Given the description of an element on the screen output the (x, y) to click on. 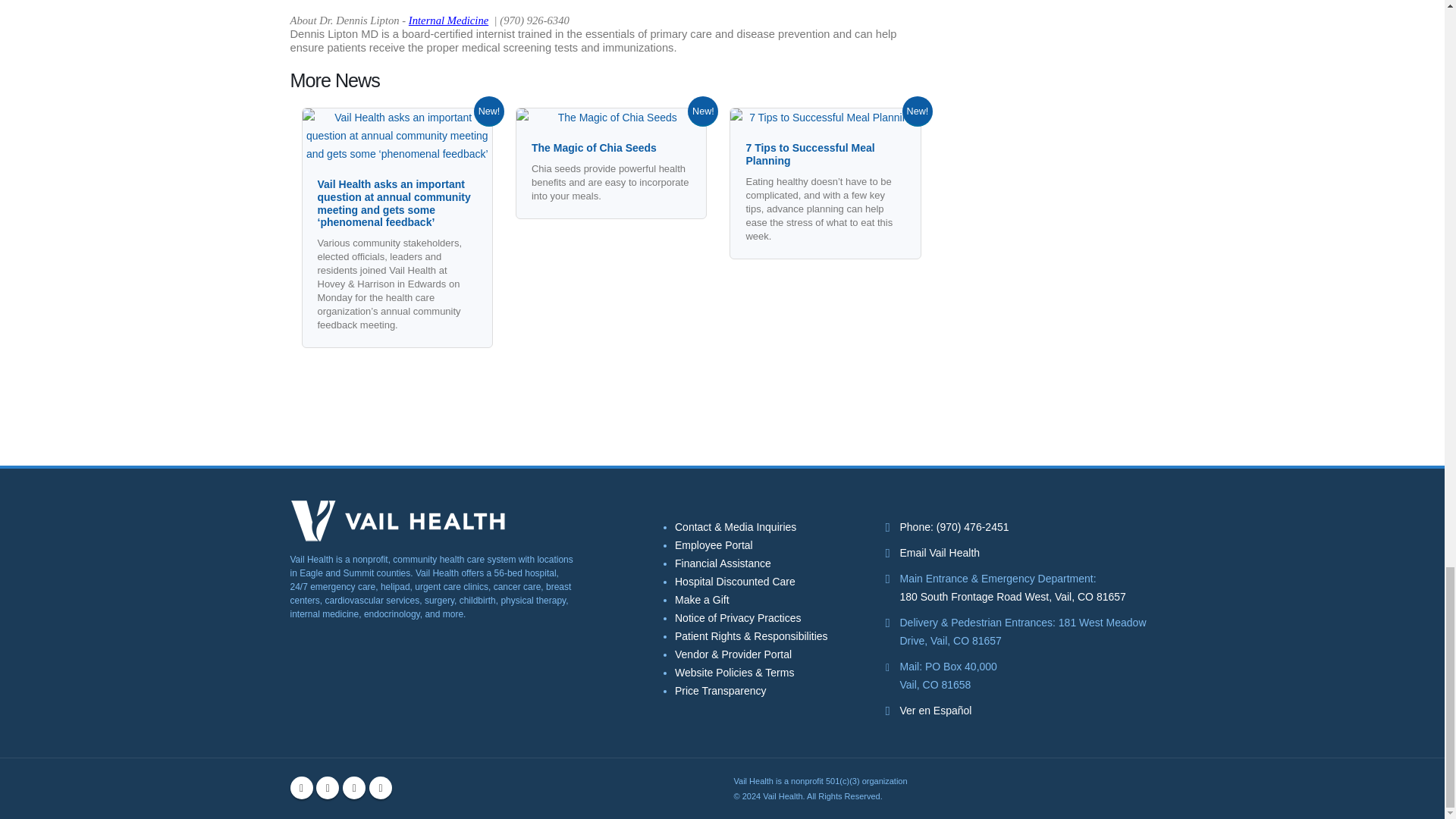
LinkedIn (380, 787)
You Tube (353, 787)
Facebook (301, 787)
Instagram (327, 787)
